Given the description of an element on the screen output the (x, y) to click on. 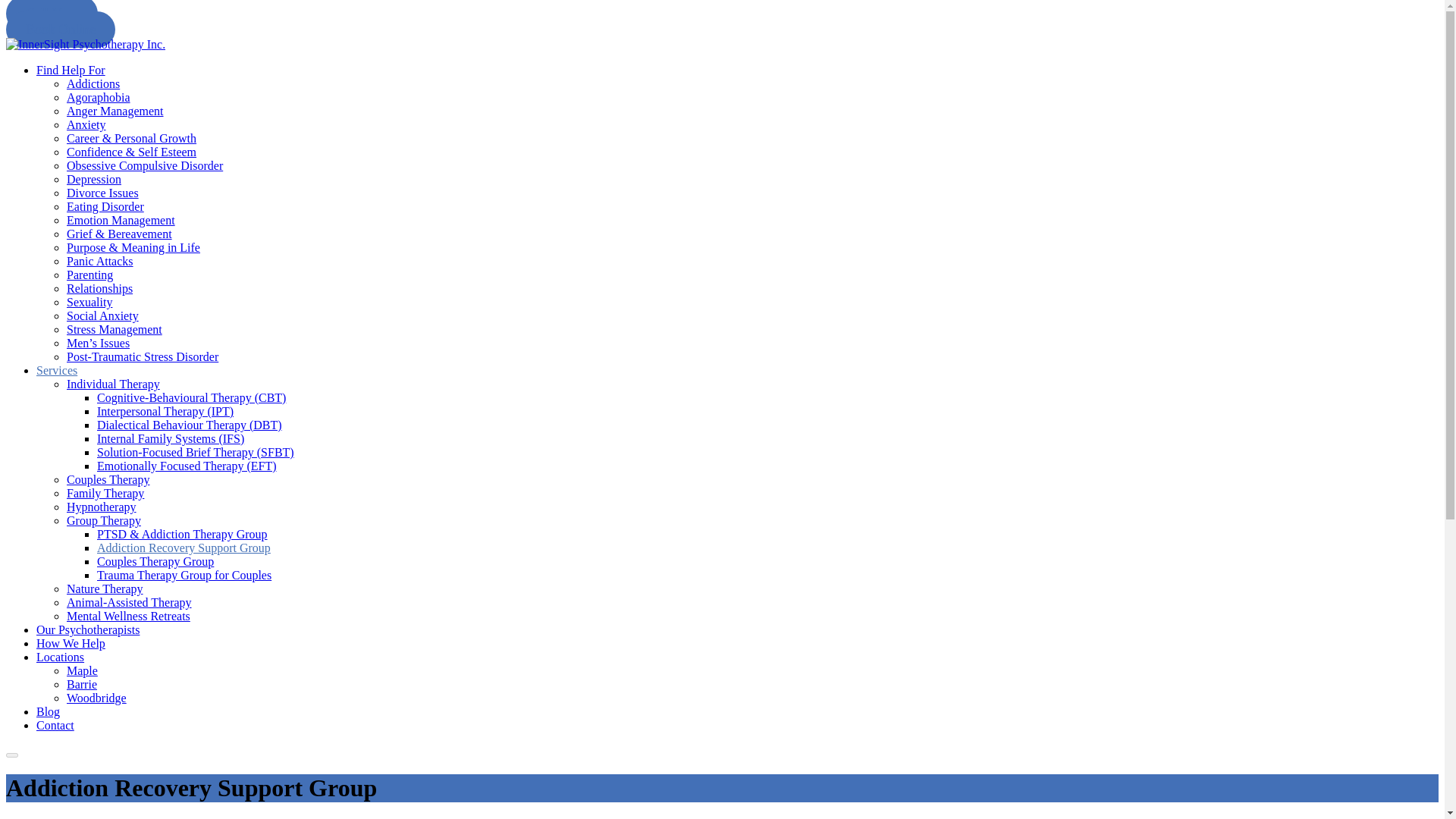
Agoraphobia (98, 97)
Individual Therapy (113, 383)
Call Now (51, 15)
Anxiety (86, 124)
InnerSight Psychotherapy Inc. (85, 43)
Depression (93, 178)
Stress Management (113, 328)
Post-Traumatic Stress Disorder (142, 356)
Services (56, 369)
Family Therapy (105, 492)
